Given the description of an element on the screen output the (x, y) to click on. 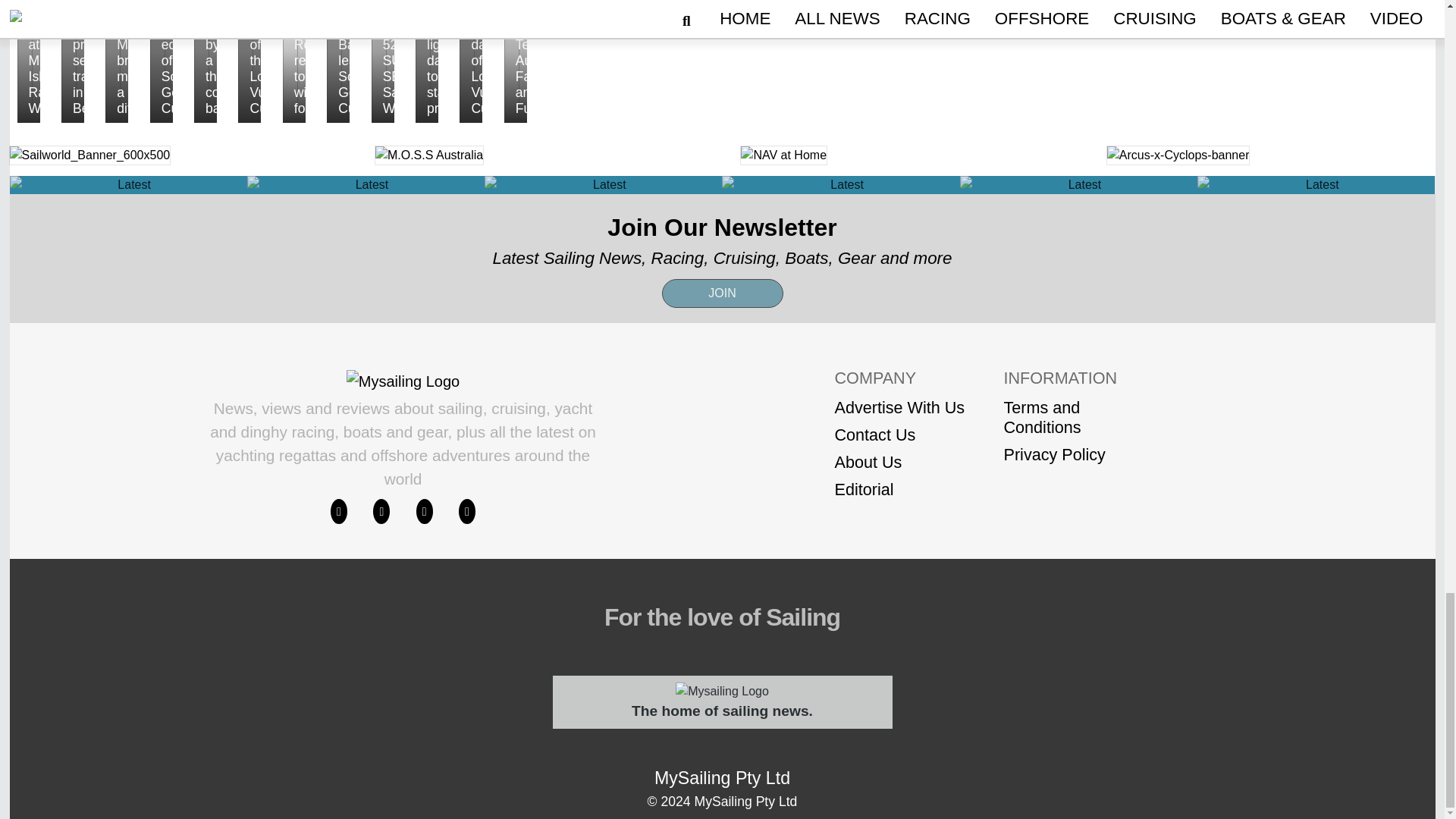
About Us (899, 462)
Advertise With Us (899, 407)
Editorial (899, 489)
Contact Us (899, 435)
